Given the description of an element on the screen output the (x, y) to click on. 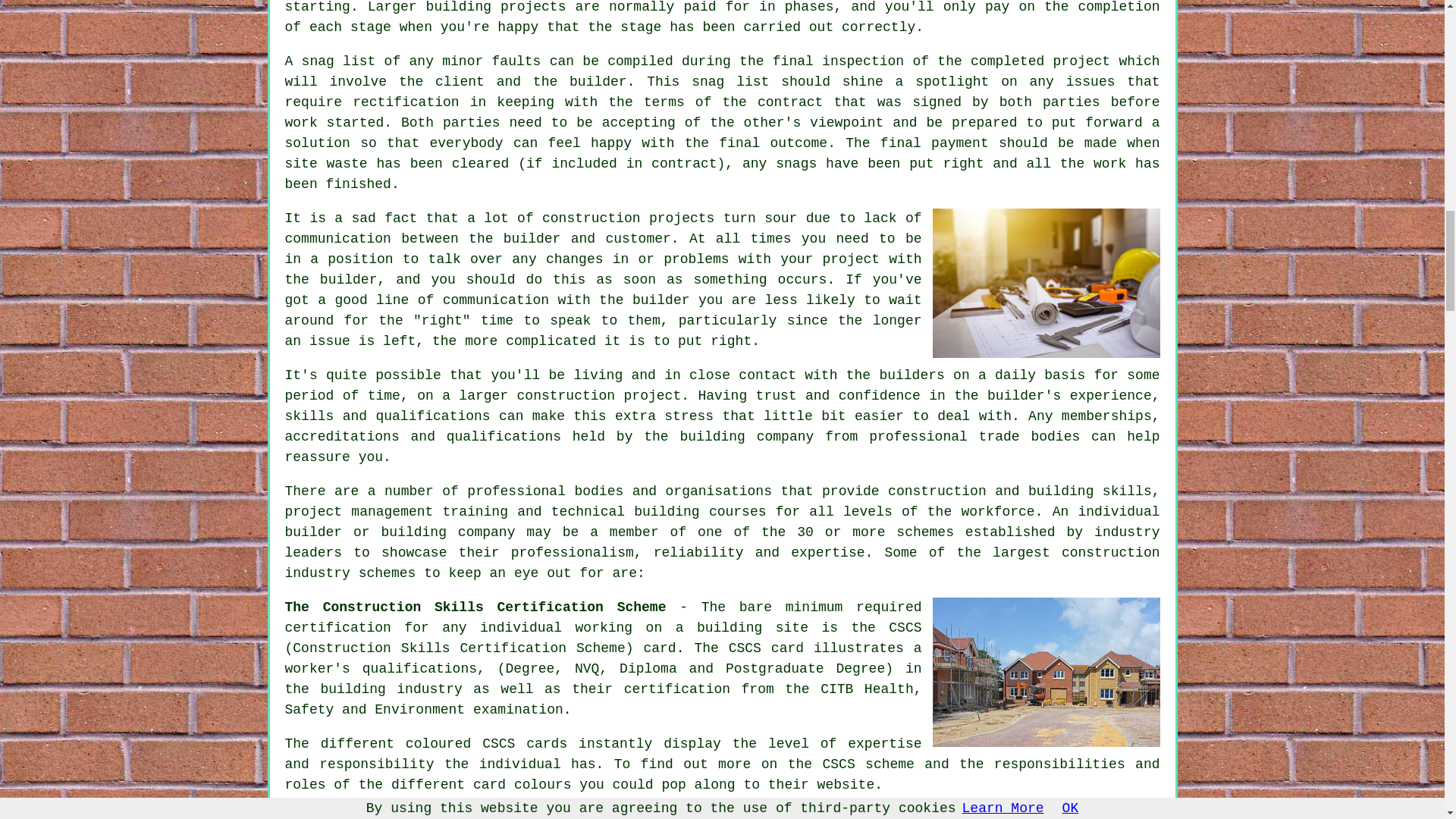
Builder Near Adlington Lancashire (1046, 282)
